Given the description of an element on the screen output the (x, y) to click on. 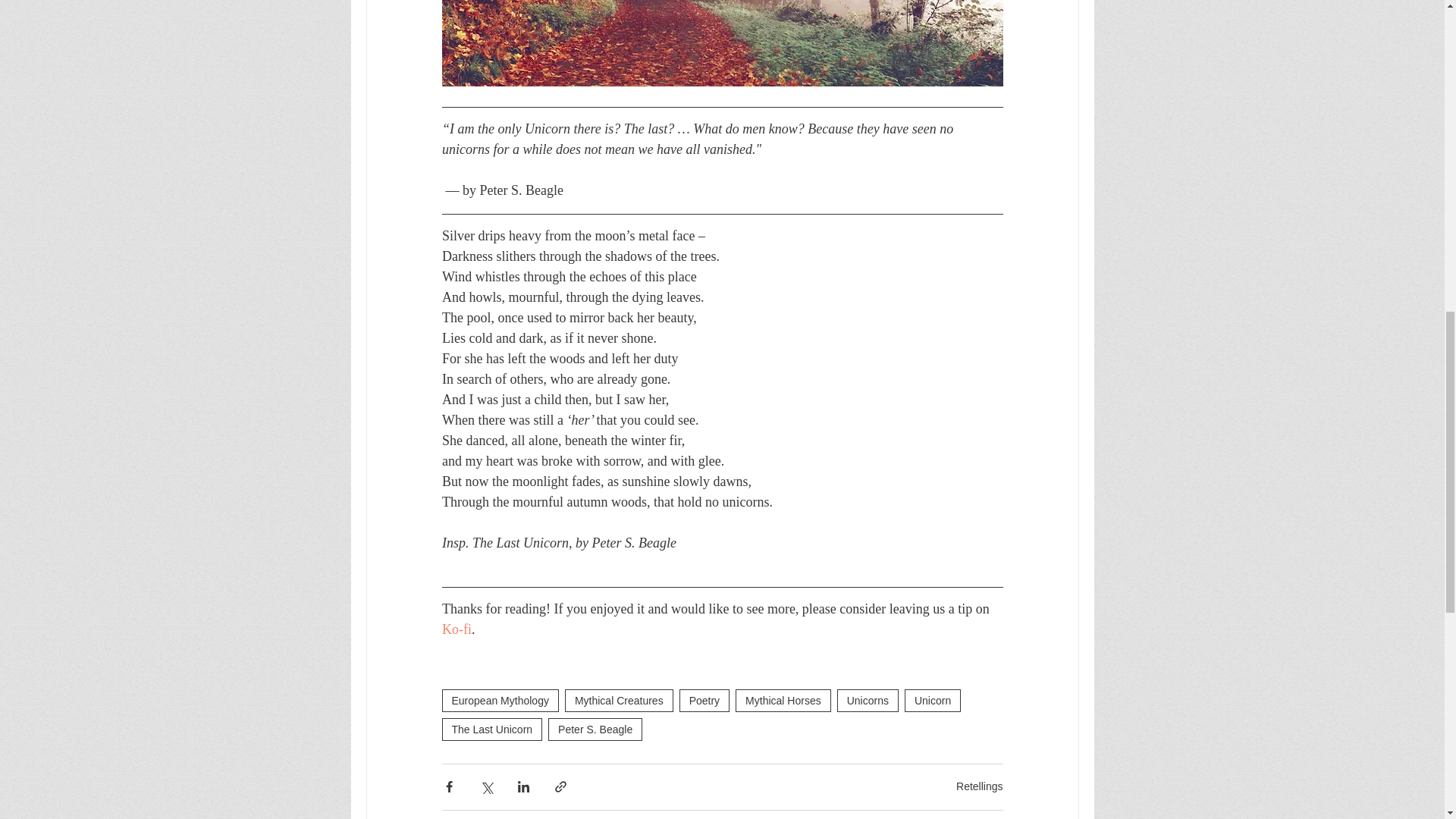
Retellings (979, 786)
Unicorns (867, 700)
Mythical Creatures (618, 700)
Ko-fi (455, 629)
Poetry (704, 700)
Unicorn (932, 700)
Peter S. Beagle (595, 729)
European Mythology (499, 700)
The Last Unicorn (491, 729)
Mythical Horses (783, 700)
